Given the description of an element on the screen output the (x, y) to click on. 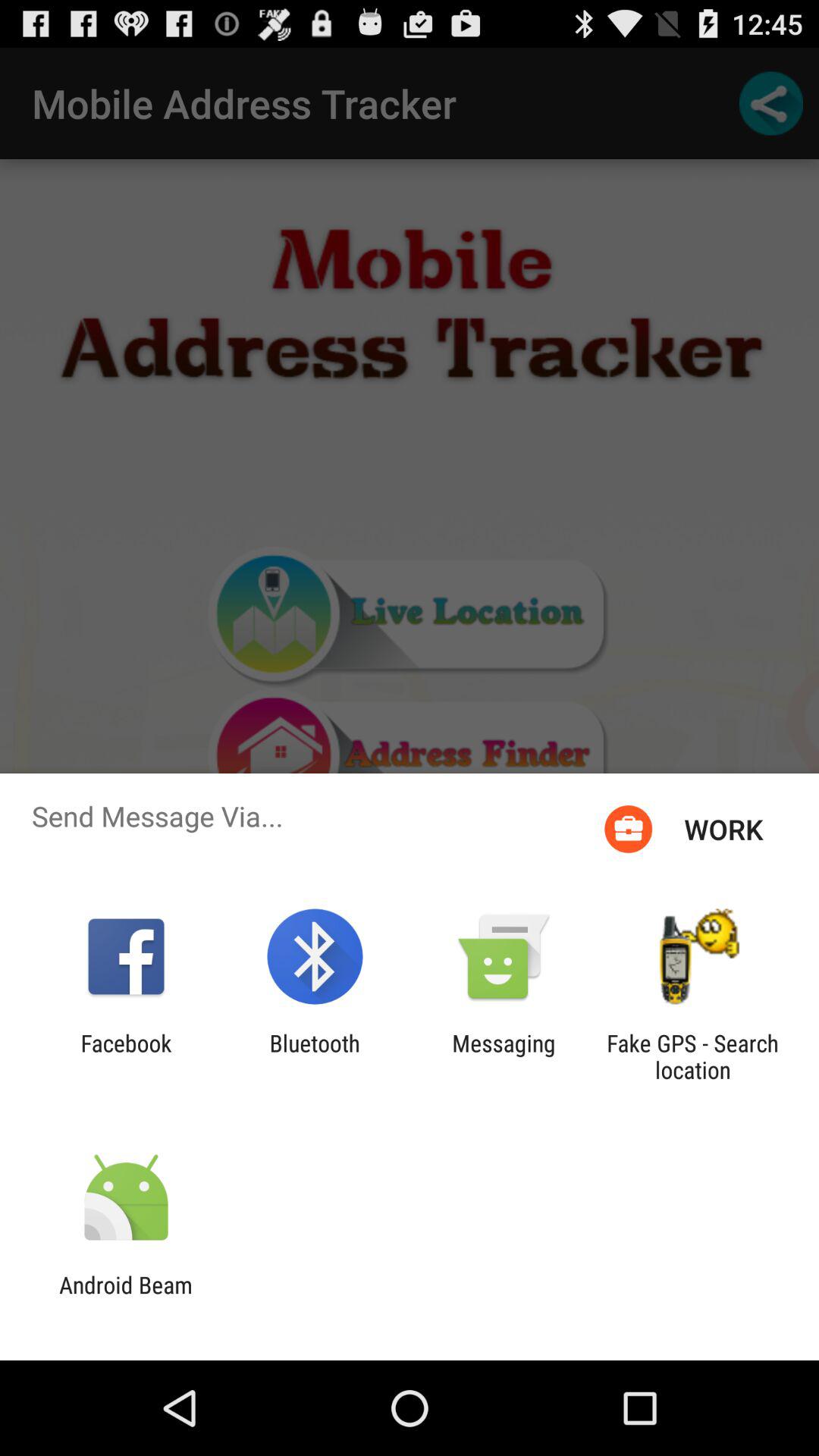
swipe until the fake gps search (692, 1056)
